Given the description of an element on the screen output the (x, y) to click on. 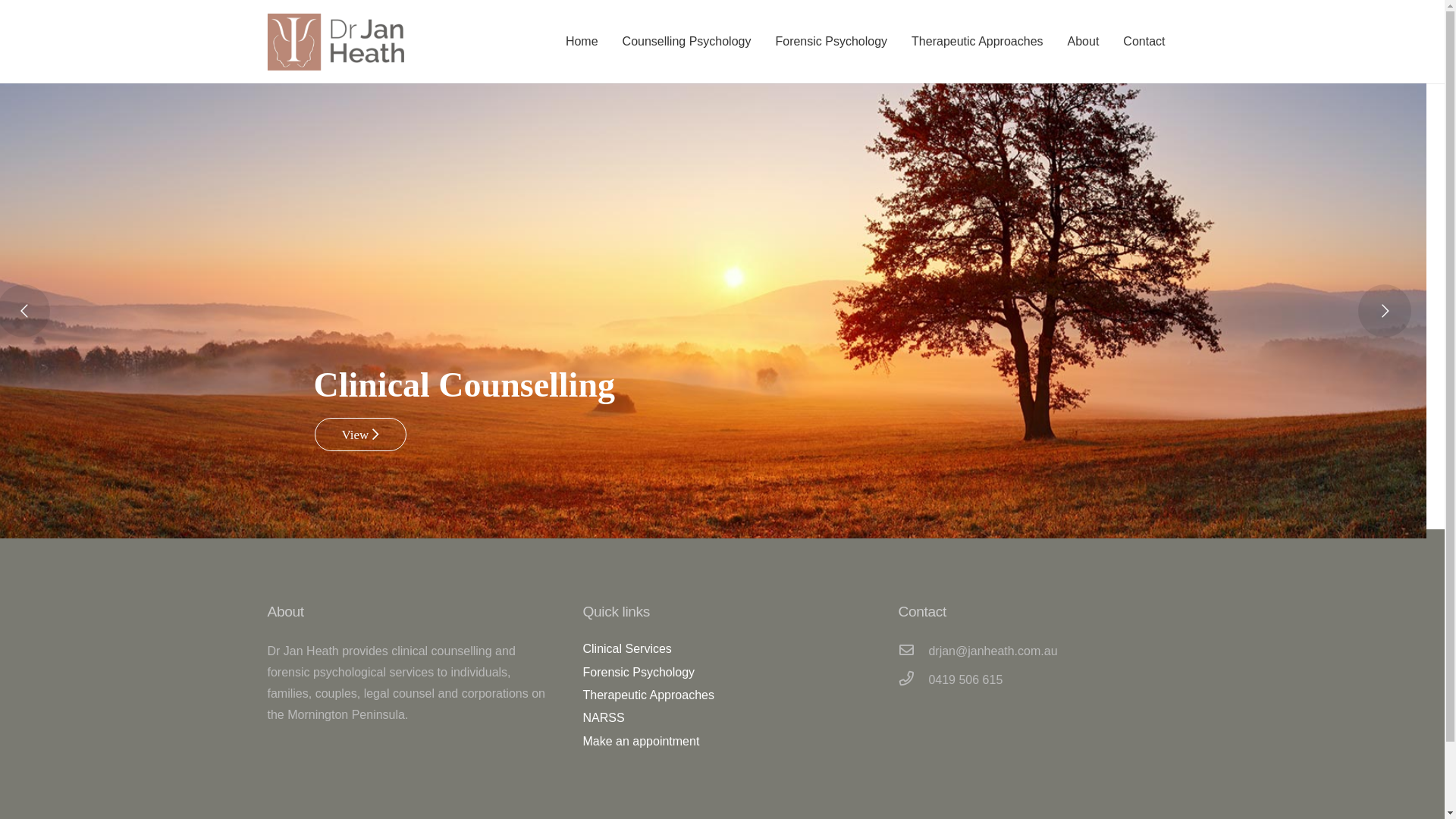
drjan@janheath.com.au Element type: text (992, 651)
Contact Element type: text (1143, 41)
Forensic Psychology Element type: text (638, 671)
Read more Element type: text (634, 436)
Therapeutic Approaches Element type: text (976, 41)
Clinical Services Element type: text (626, 648)
Home Element type: text (581, 41)
About Element type: text (1083, 41)
Counselling Psychology Element type: text (686, 41)
Therapeutic Approaches Element type: text (647, 694)
0419 506 615 Element type: text (965, 679)
NARSS Element type: text (603, 717)
Make an appointment Element type: text (640, 740)
Forensic Psychology Element type: text (830, 41)
